Given the description of an element on the screen output the (x, y) to click on. 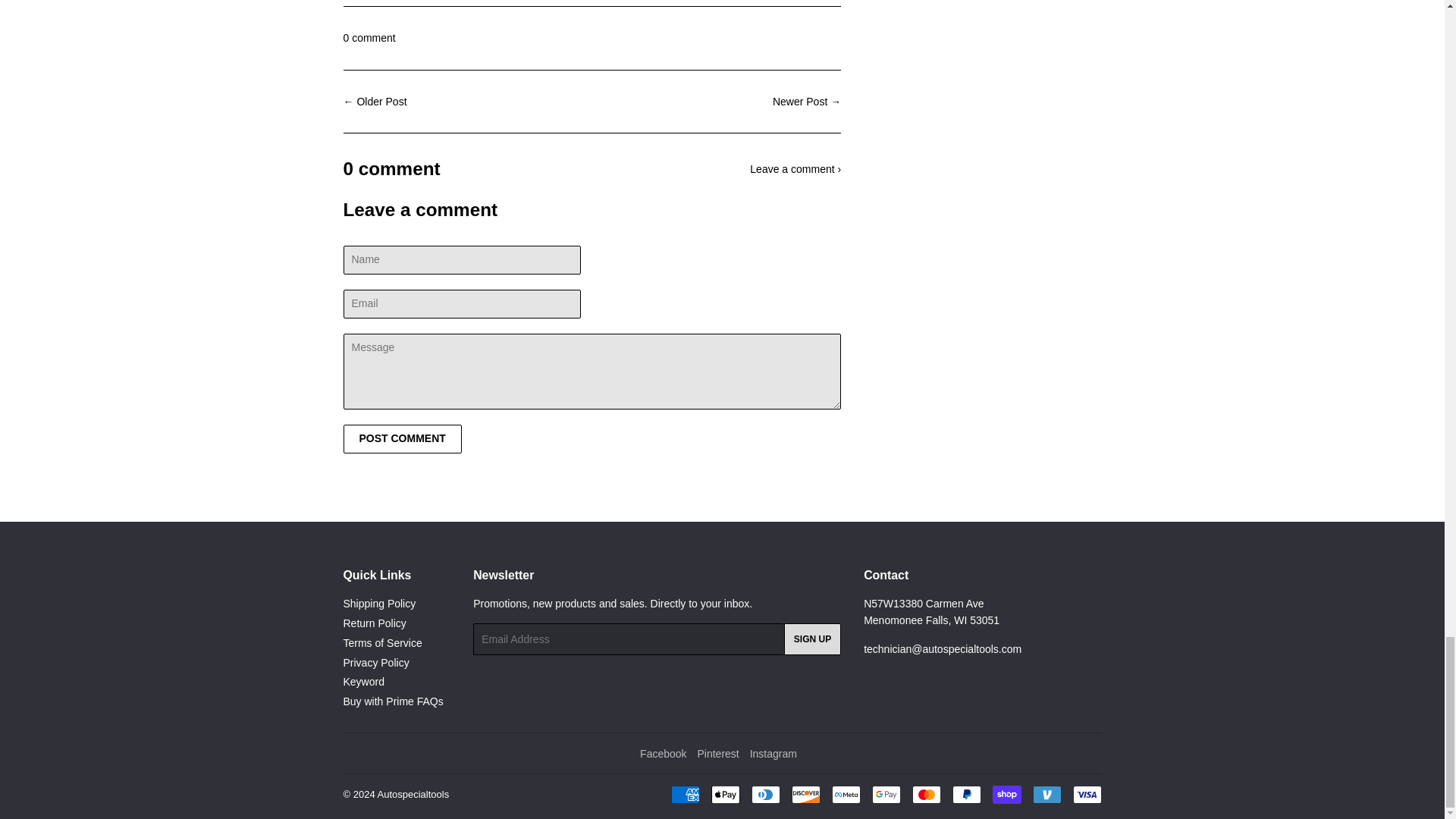
Visa (1085, 794)
Autospecialtools on Facebook (662, 753)
Post comment (401, 439)
Autospecialtools on Instagram (772, 753)
Venmo (1046, 794)
Autospecialtools on Pinterest (717, 753)
Apple Pay (725, 794)
American Express (683, 794)
Mastercard (925, 794)
Discover (806, 794)
